Given the description of an element on the screen output the (x, y) to click on. 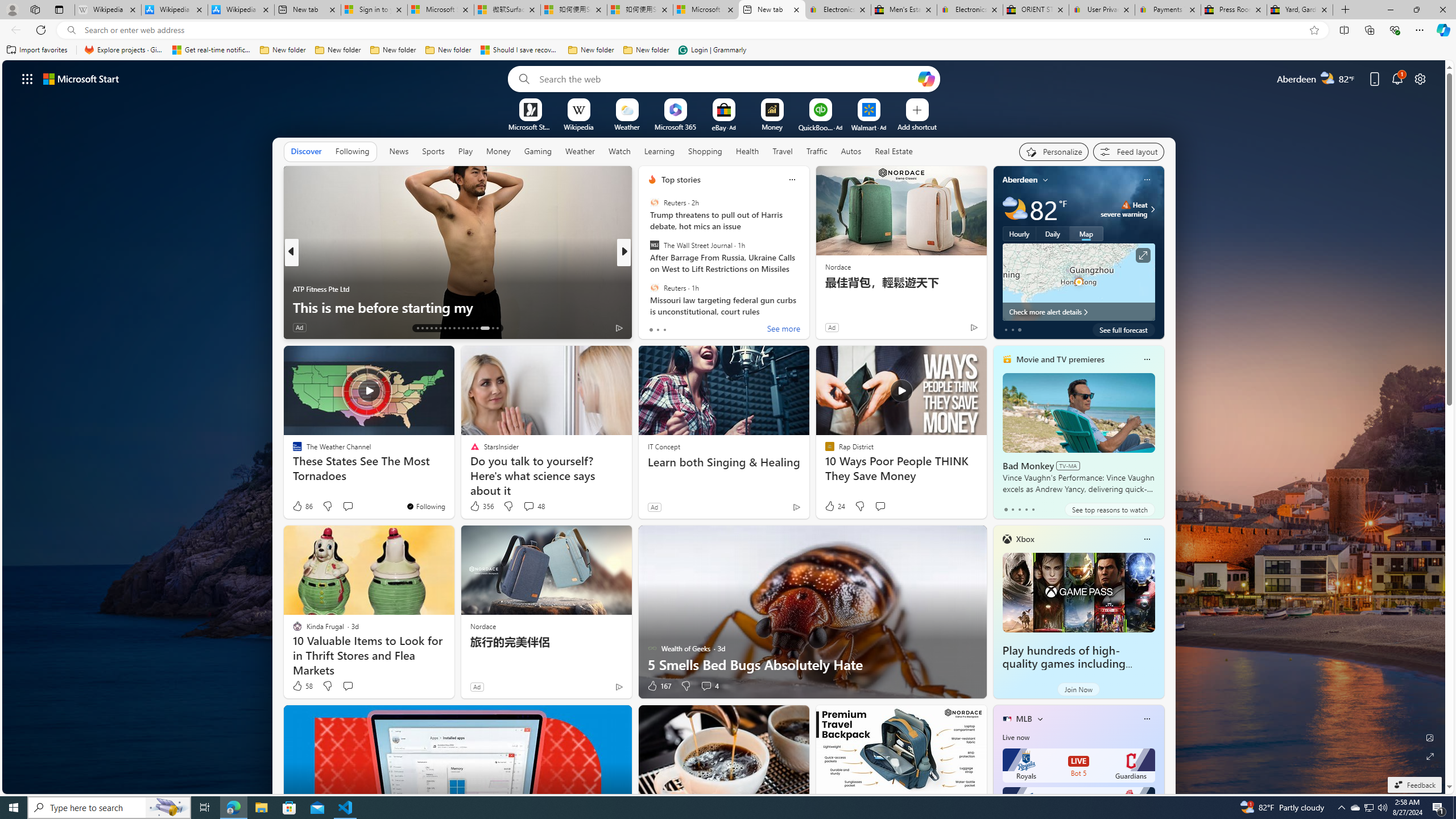
167 Like (658, 685)
AutomationID: backgroundImagePicture (723, 426)
View comments 1 Comment (702, 327)
App launcher (27, 78)
Class: weather-arrow-glyph (1152, 208)
Wikipedia (578, 126)
Shopping (705, 151)
Microsoft start (81, 78)
News (398, 151)
AutomationID: tab-22 (458, 328)
Autos (850, 151)
